Given the description of an element on the screen output the (x, y) to click on. 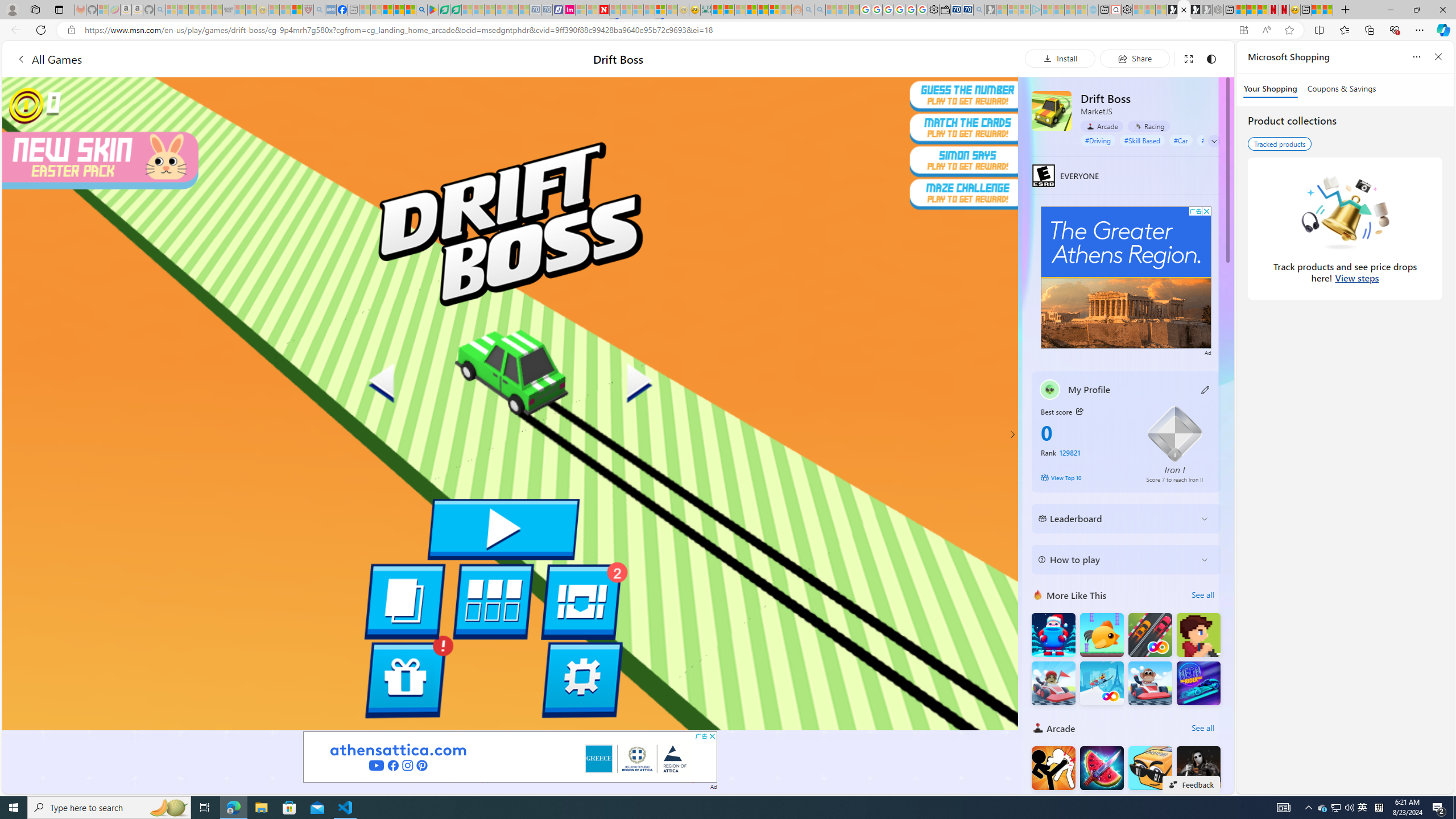
Ski Jump FRVR (1101, 683)
Touch And Catch Santa (1053, 634)
Cubes2048 (1149, 767)
Cheap Hotels - Save70.com - Sleeping (546, 9)
Microsoft Start - Sleeping (1069, 9)
Minimize (1390, 9)
Wildlife - MSN (1316, 9)
New Report Confirms 2023 Was Record Hot | Watch - Sleeping (216, 9)
DITOGAMES AG Imprint (705, 9)
Install (1060, 58)
#Skill Based (1141, 140)
